Given the description of an element on the screen output the (x, y) to click on. 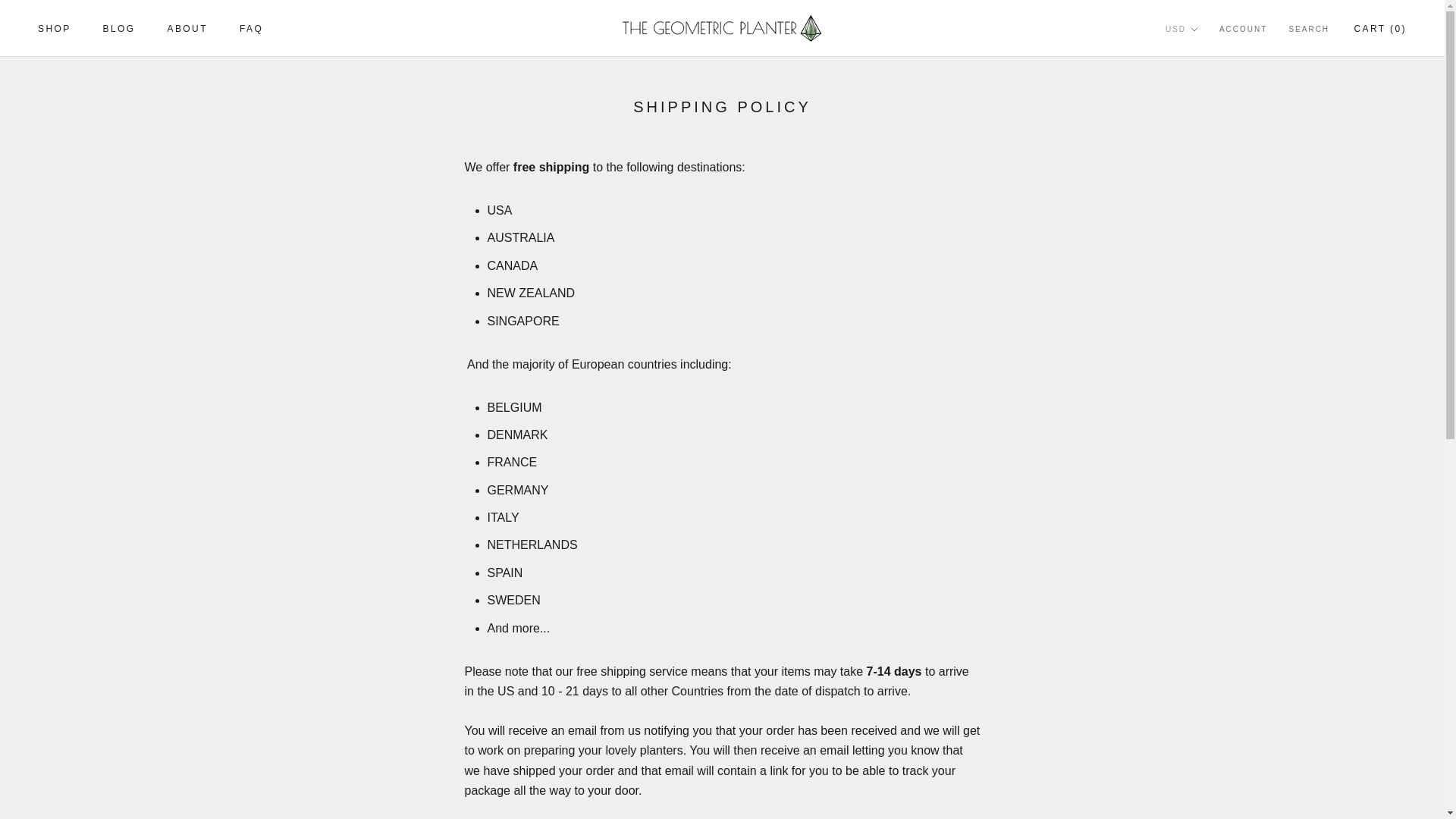
ACCOUNT (54, 28)
